Given the description of an element on the screen output the (x, y) to click on. 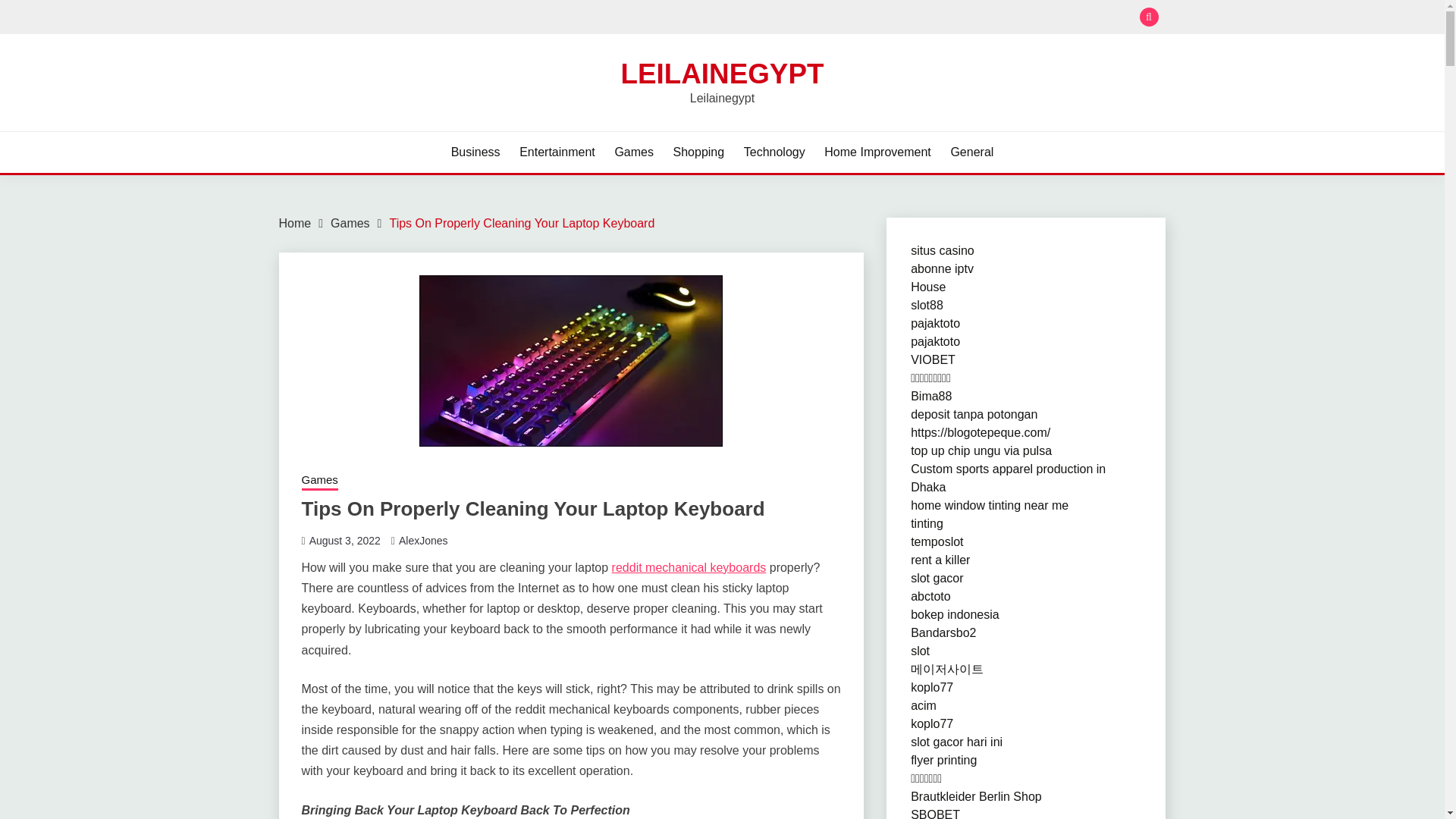
Home (295, 223)
abonne iptv (942, 268)
Games (633, 152)
House (927, 286)
Technology (774, 152)
Entertainment (557, 152)
Tips On Properly Cleaning Your Laptop Keyboard (520, 223)
Shopping (698, 152)
General (971, 152)
pajaktoto (935, 341)
Business (475, 152)
reddit mechanical keyboards (689, 567)
situs casino (942, 250)
Search (832, 18)
Games (349, 223)
